Given the description of an element on the screen output the (x, y) to click on. 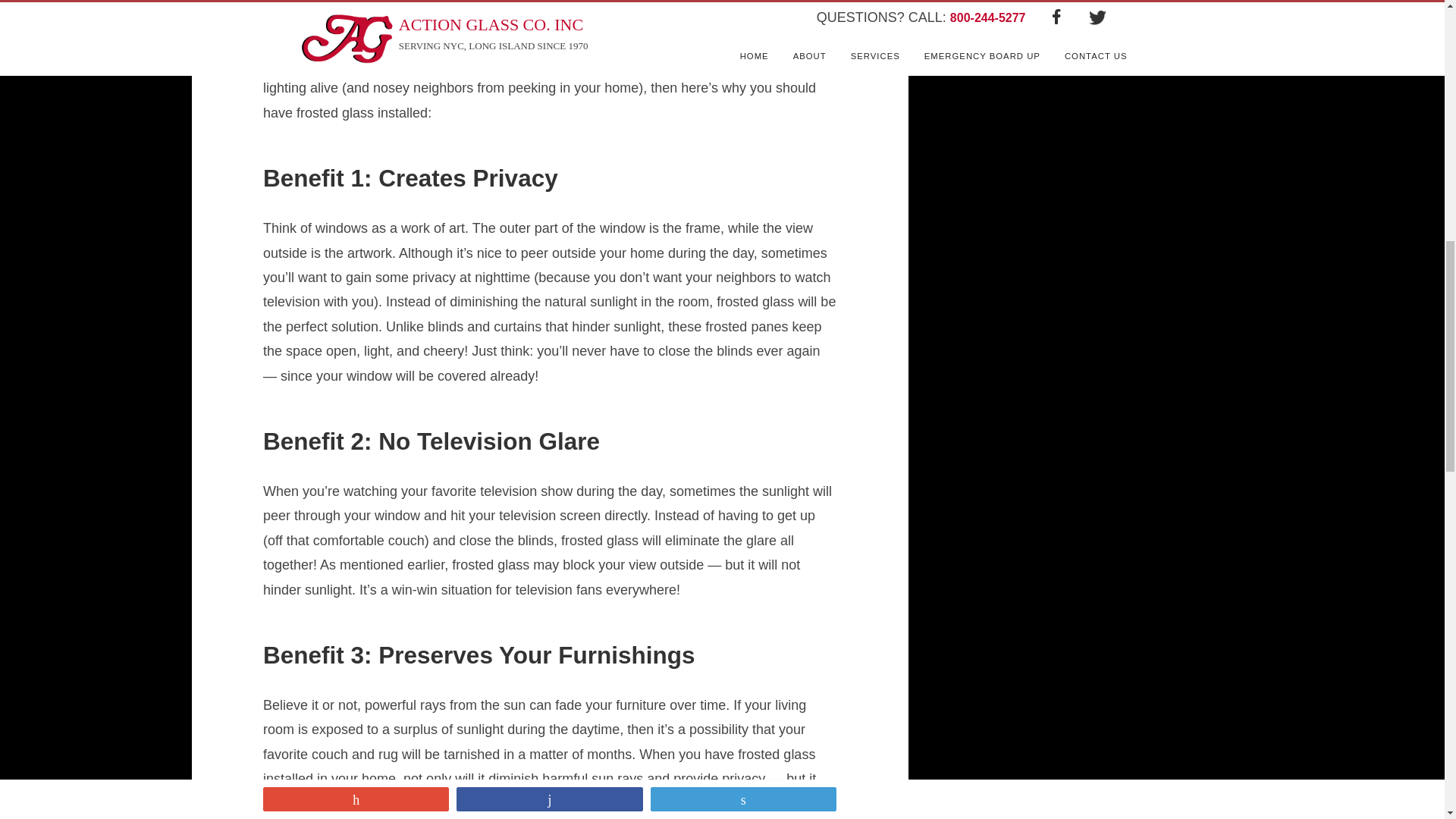
privacy (800, 38)
